Given the description of an element on the screen output the (x, y) to click on. 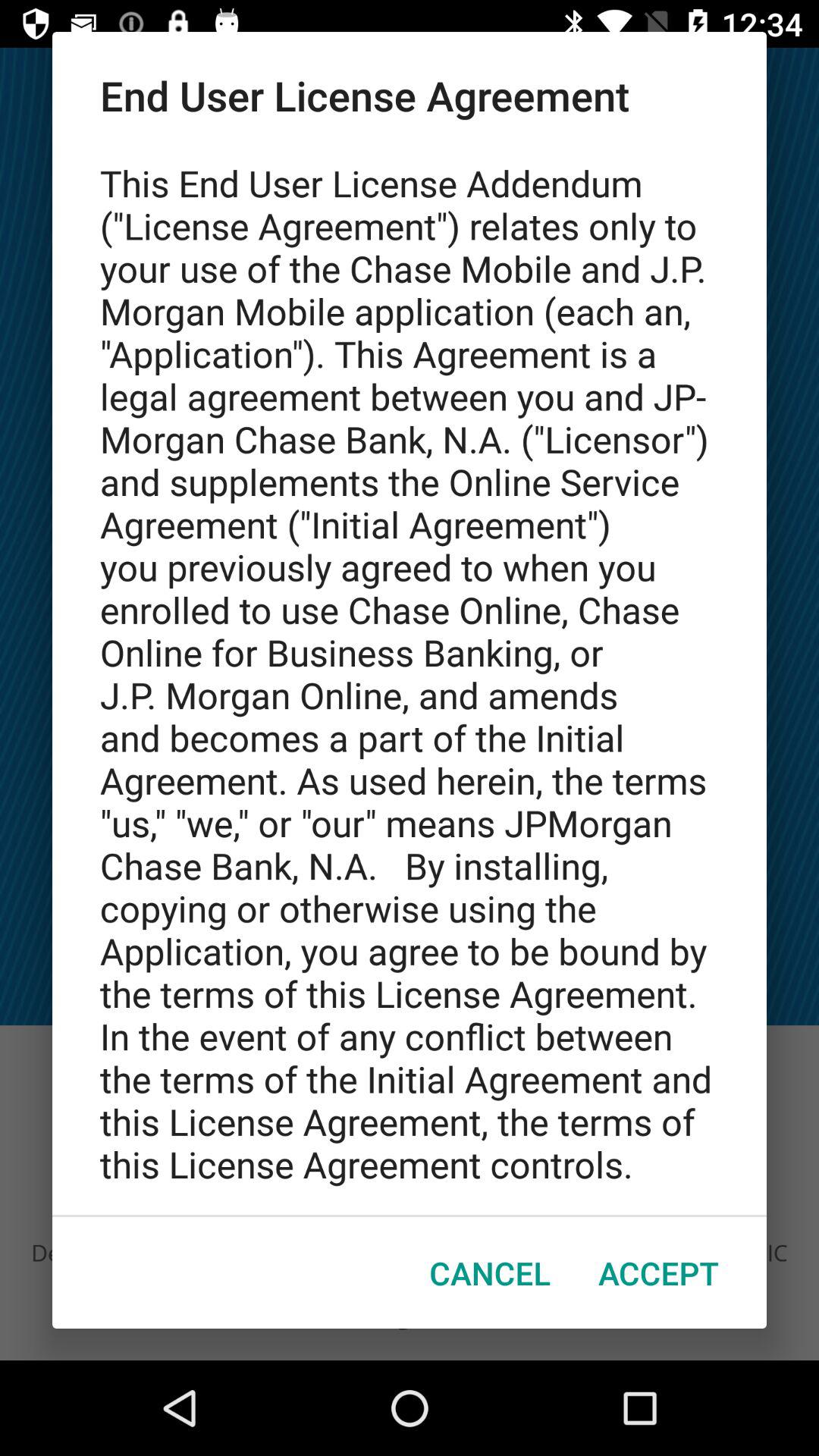
press the item to the right of the cancel (658, 1272)
